Given the description of an element on the screen output the (x, y) to click on. 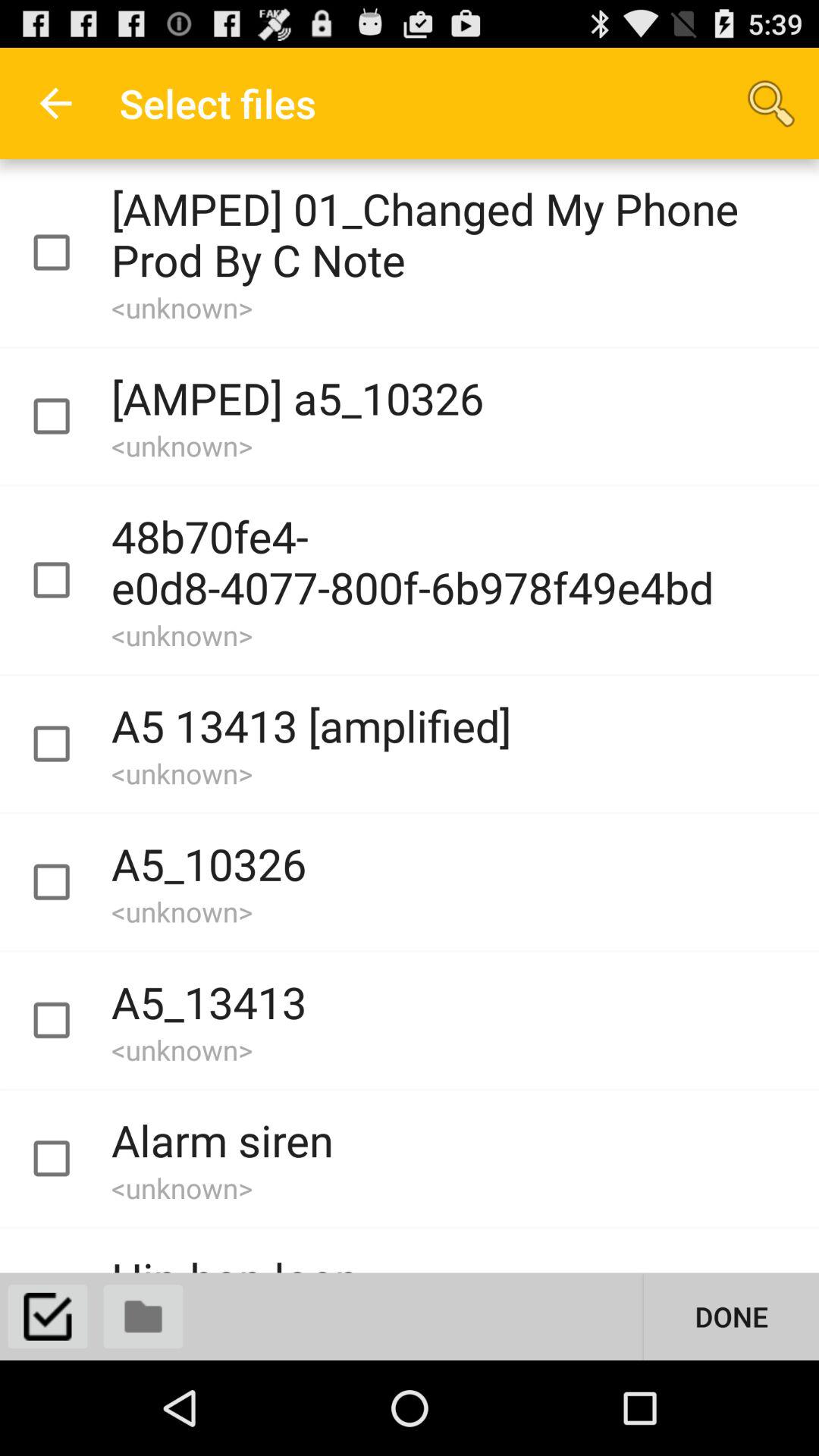
turn on the item next to the done (143, 1316)
